Given the description of an element on the screen output the (x, y) to click on. 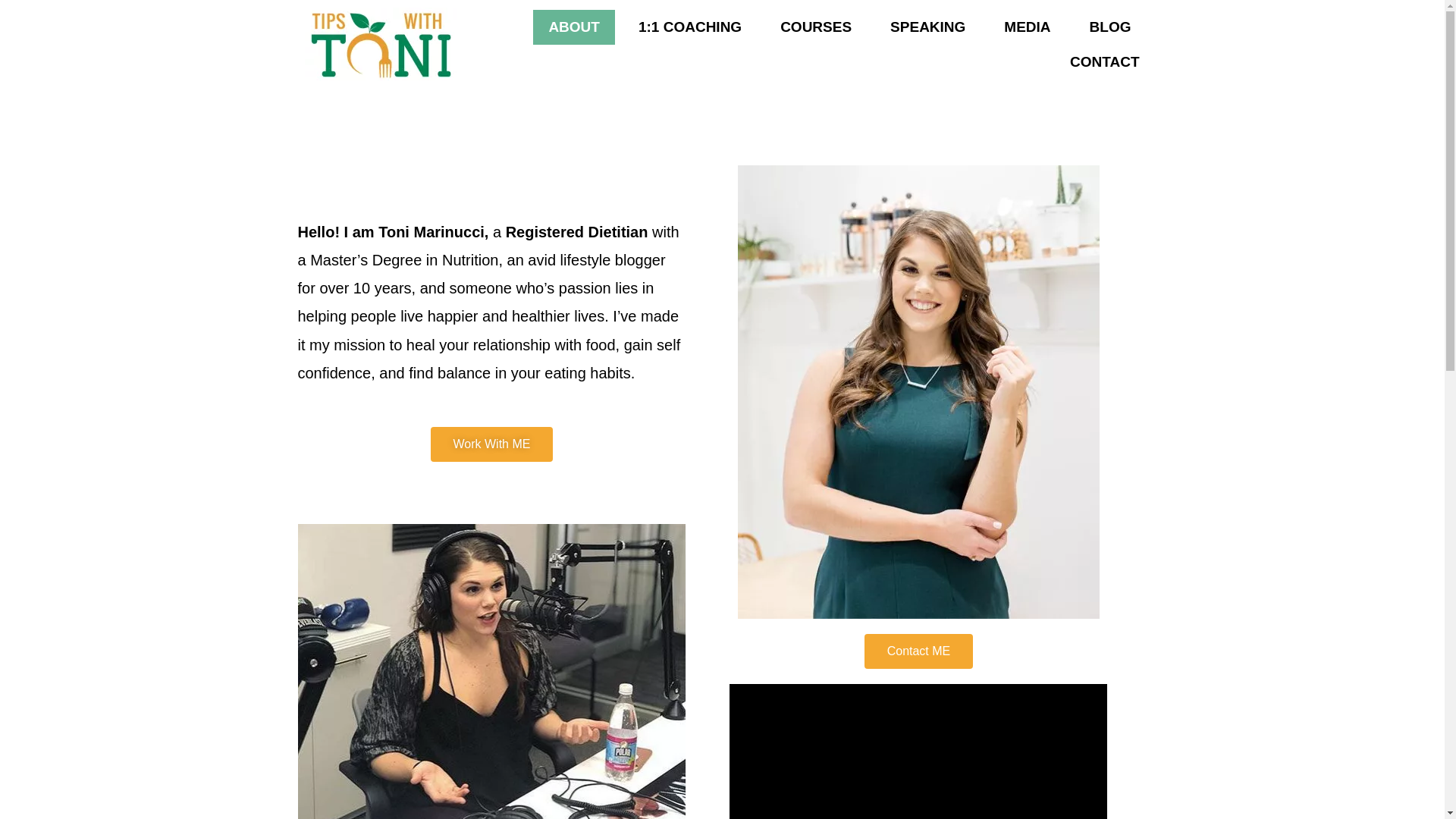
1:1 COACHING (690, 26)
CONTACT (1104, 61)
SPEAKING (927, 26)
Contact ME (919, 651)
ABOUT (573, 26)
Work With ME (491, 443)
MEDIA (1026, 26)
COURSES (815, 26)
BLOG (1110, 26)
